Given the description of an element on the screen output the (x, y) to click on. 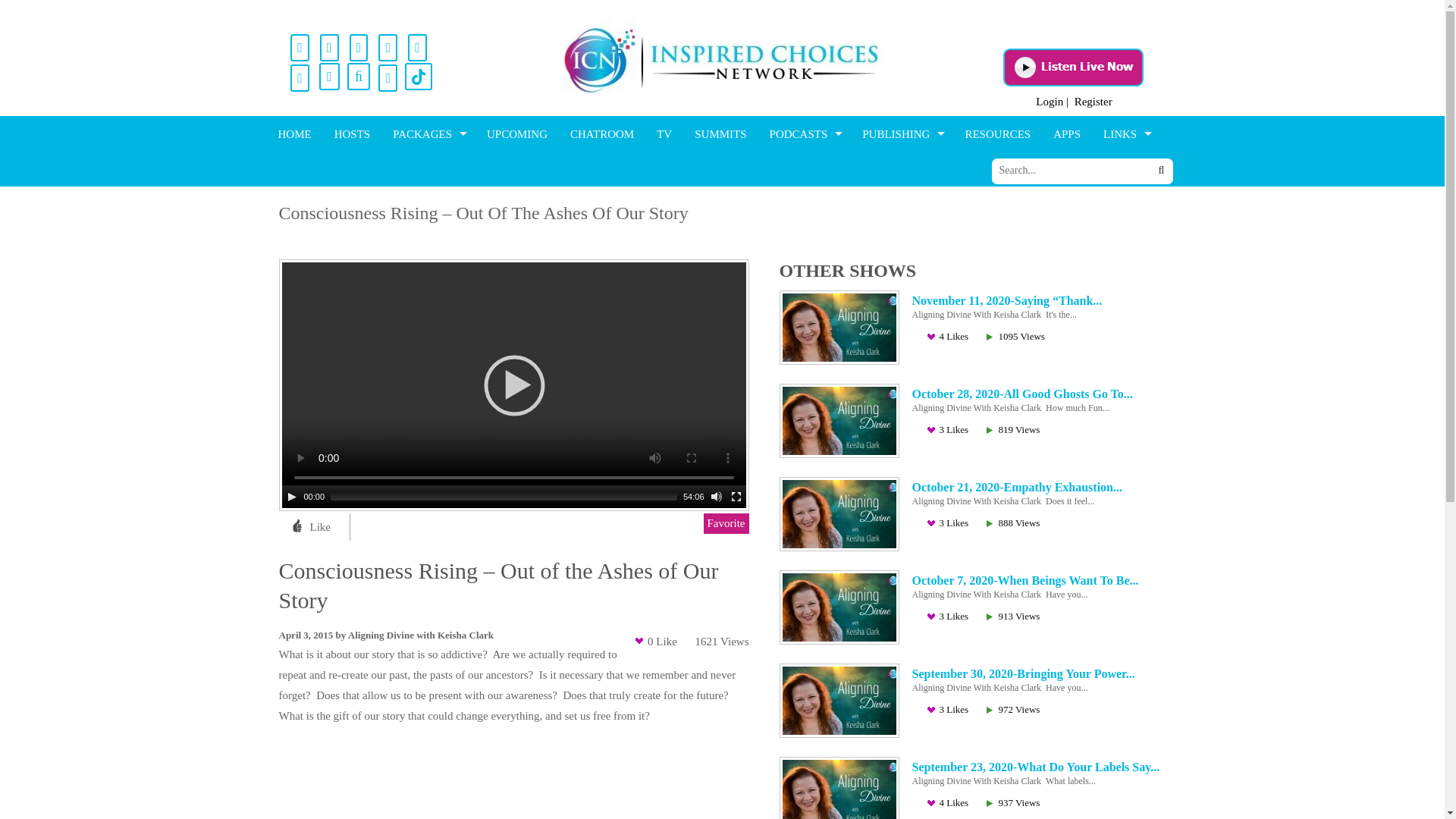
Fullscreen (735, 496)
HOME (293, 134)
UPCOMING (516, 134)
Register (1093, 101)
Play (291, 496)
SUMMITS (720, 134)
TV (664, 134)
Mute (716, 496)
CHATROOM (602, 134)
PODCASTS (804, 134)
HOSTS (352, 134)
PACKAGES (427, 134)
TV (664, 134)
